Given the description of an element on the screen output the (x, y) to click on. 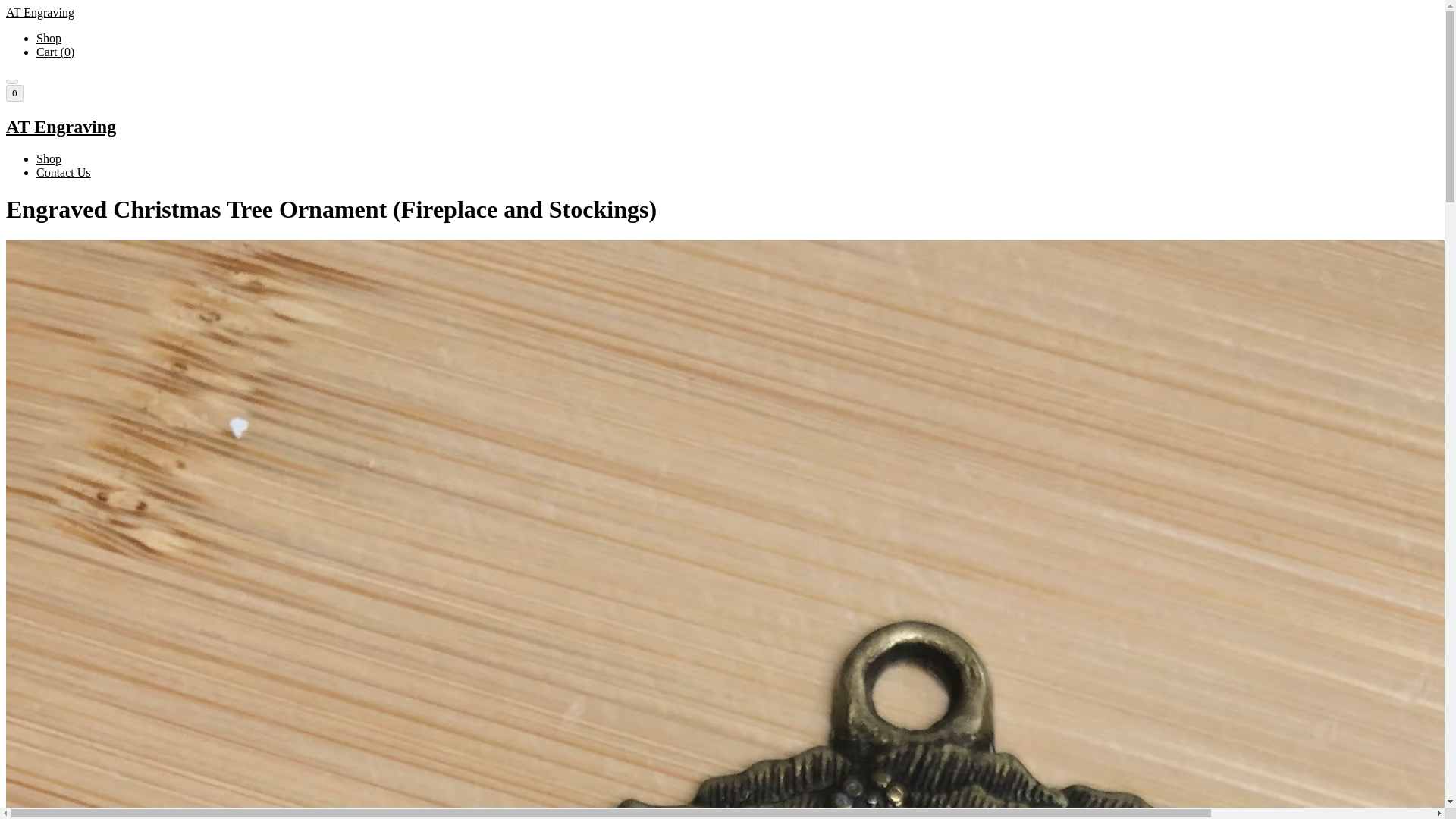
Contact Us (63, 172)
AT Engraving (721, 127)
0 (14, 93)
Shop (48, 158)
Shop (48, 38)
